Given the description of an element on the screen output the (x, y) to click on. 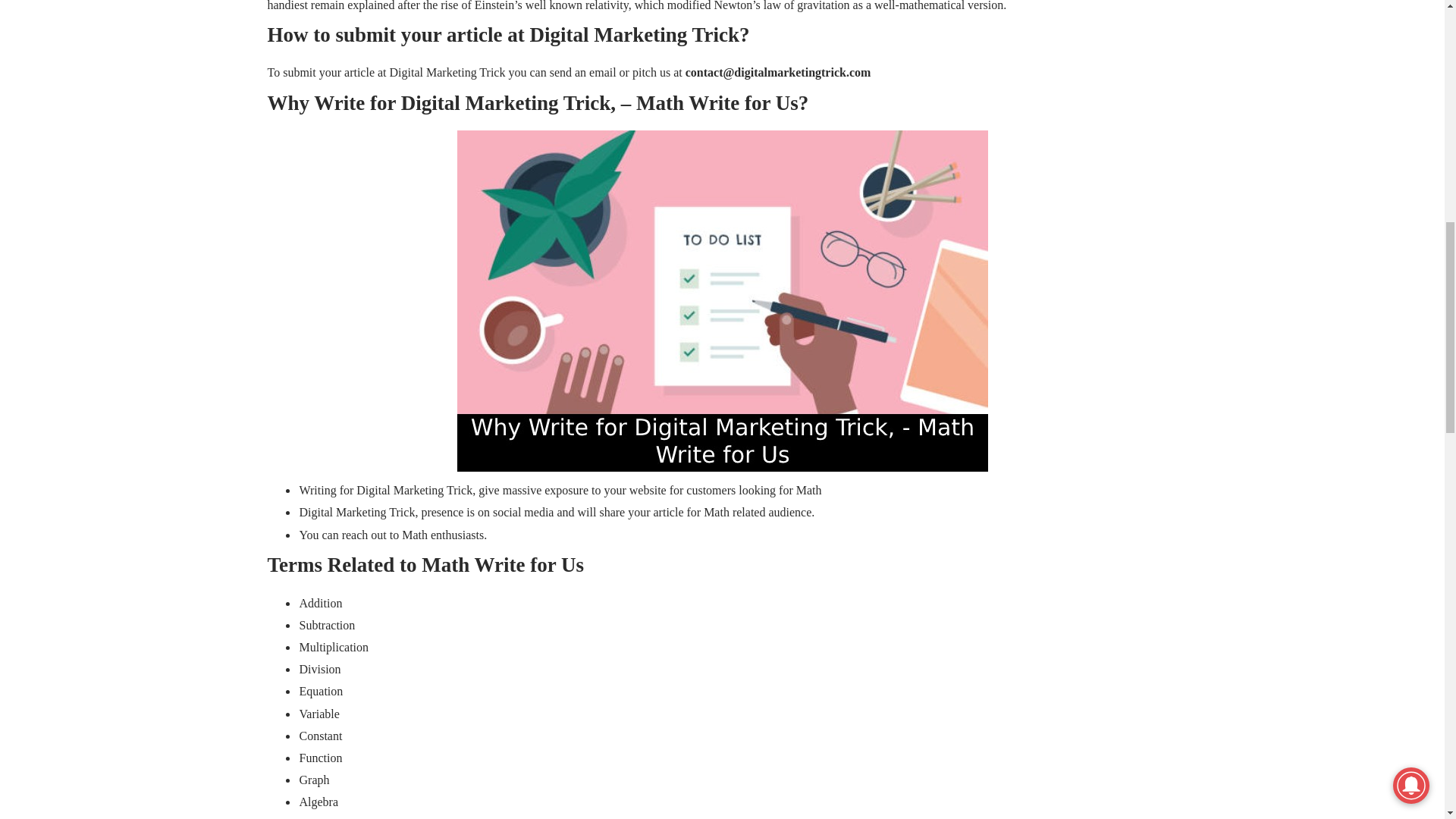
social media (523, 512)
website (647, 490)
